Given the description of an element on the screen output the (x, y) to click on. 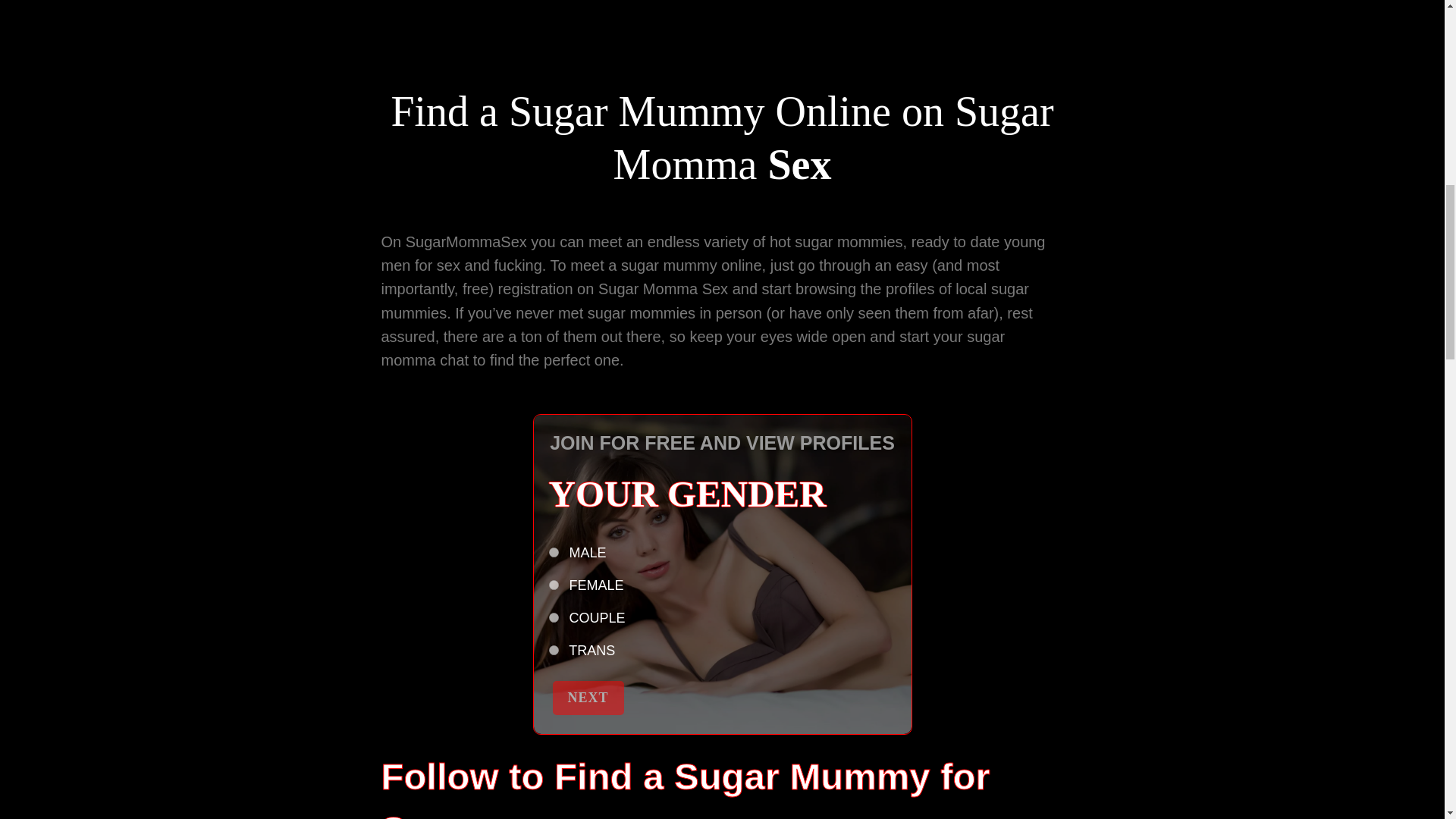
couple (553, 617)
trans (553, 650)
female (553, 584)
male (553, 552)
